Given the description of an element on the screen output the (x, y) to click on. 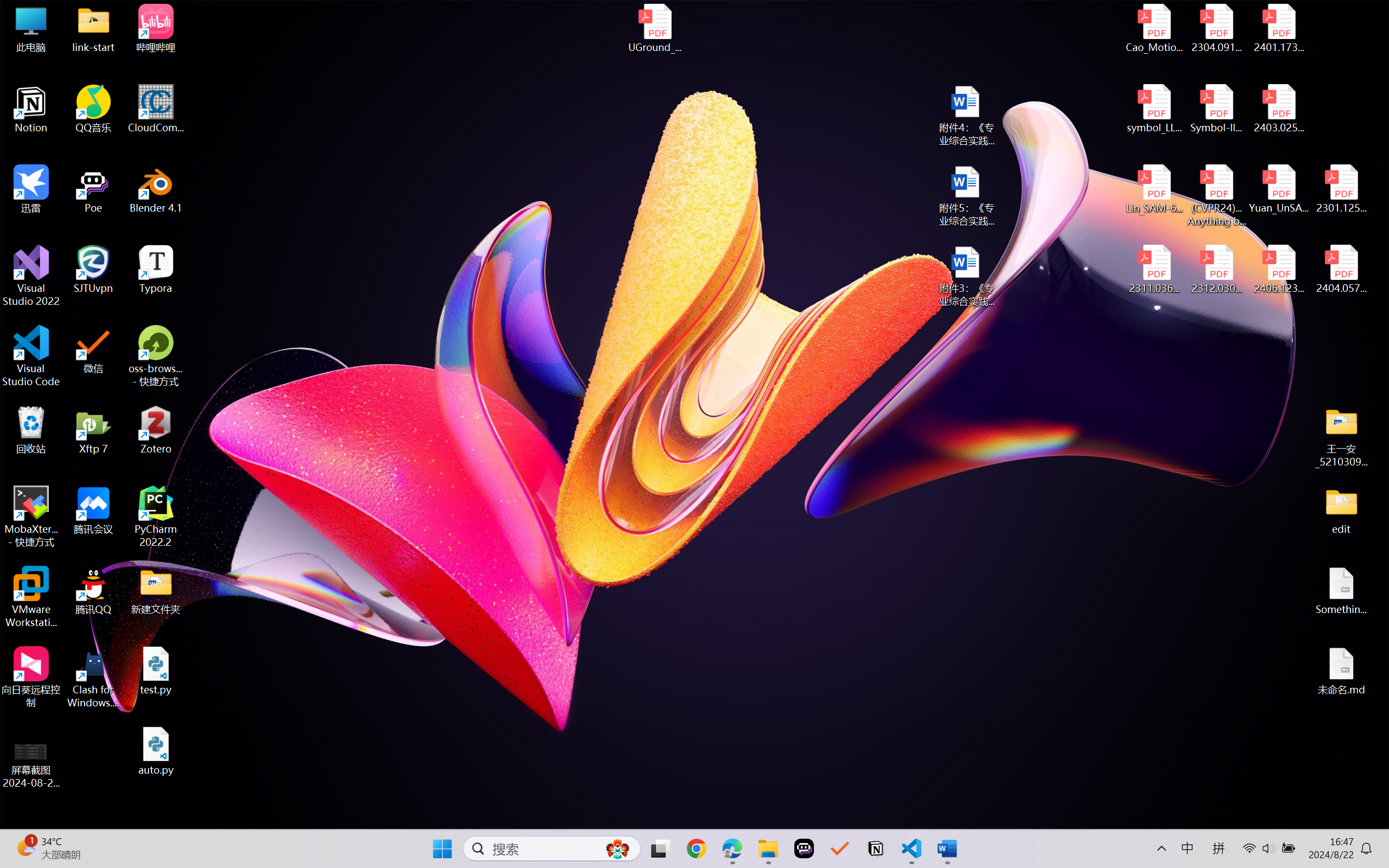
2311.03658v2.pdf (1154, 269)
edit (1340, 510)
2404.05719v1.pdf (1340, 269)
Visual Studio Code (31, 355)
2406.12373v2.pdf (1278, 269)
